Given the description of an element on the screen output the (x, y) to click on. 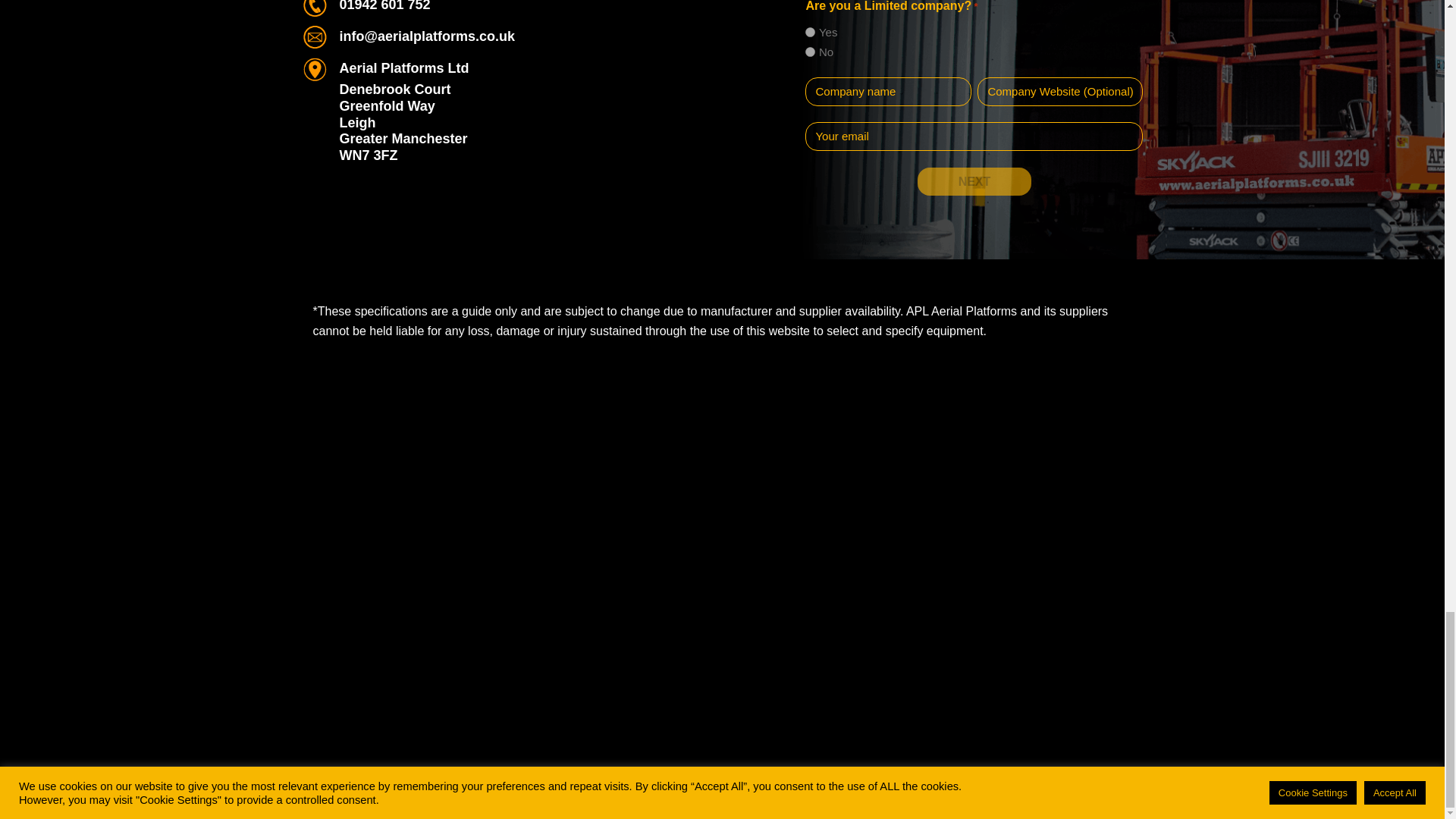
No (810, 51)
Yes (810, 31)
Next (973, 181)
